Given the description of an element on the screen output the (x, y) to click on. 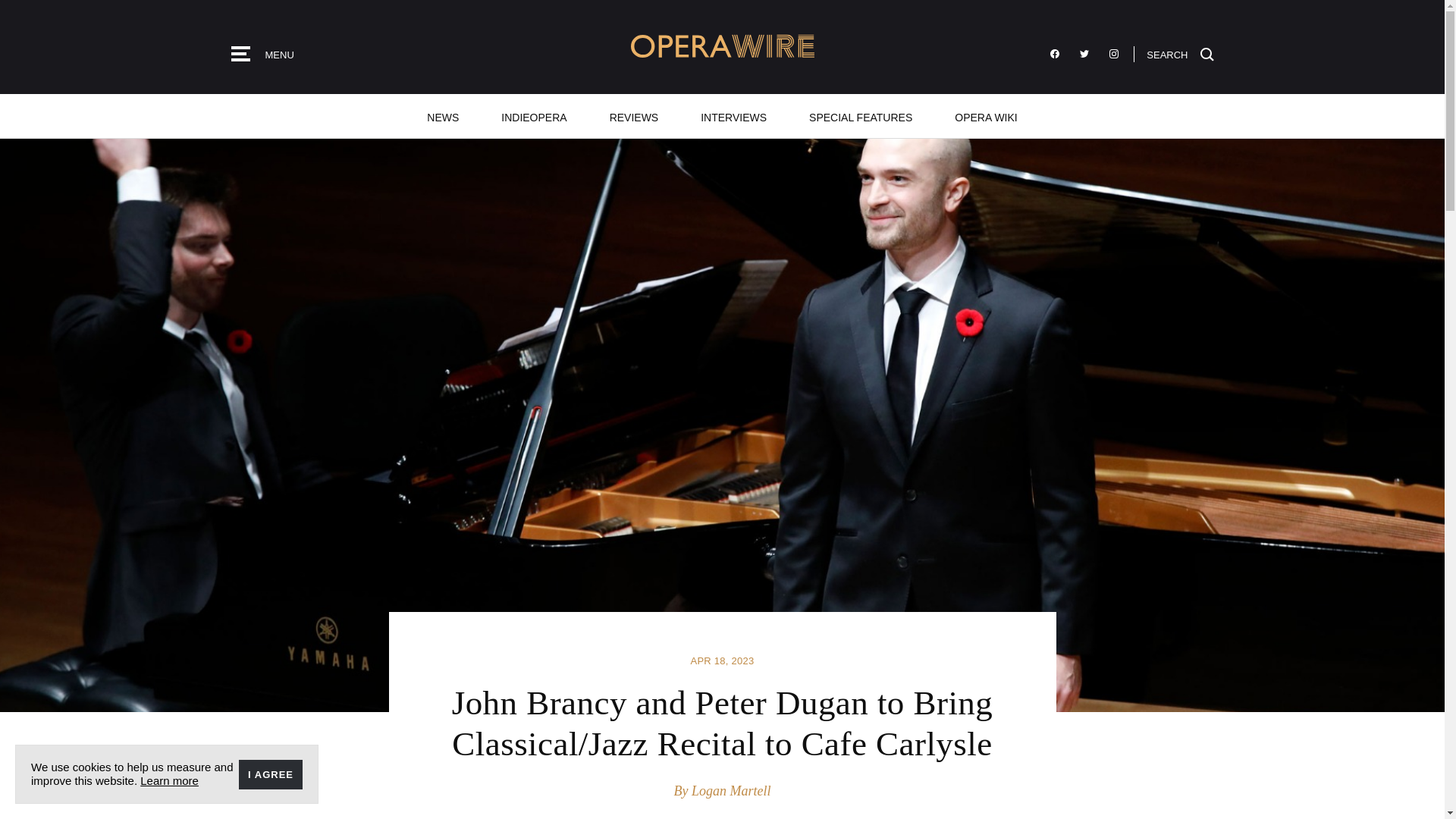
Like OperaWire on Facebook (1054, 53)
OperaWire (721, 46)
SPECIAL FEATURES (860, 116)
Logan Martell (731, 790)
Learn more (168, 780)
REVIEWS (633, 116)
Follow OperaWire on Instagram (1113, 53)
OPERA WIKI (985, 116)
I AGREE (270, 774)
Follow OperaWire on Twitter (1084, 53)
SEARCH (1179, 53)
INDIEOPERA (533, 116)
NEWS (443, 116)
INTERVIEWS (733, 116)
